Given the description of an element on the screen output the (x, y) to click on. 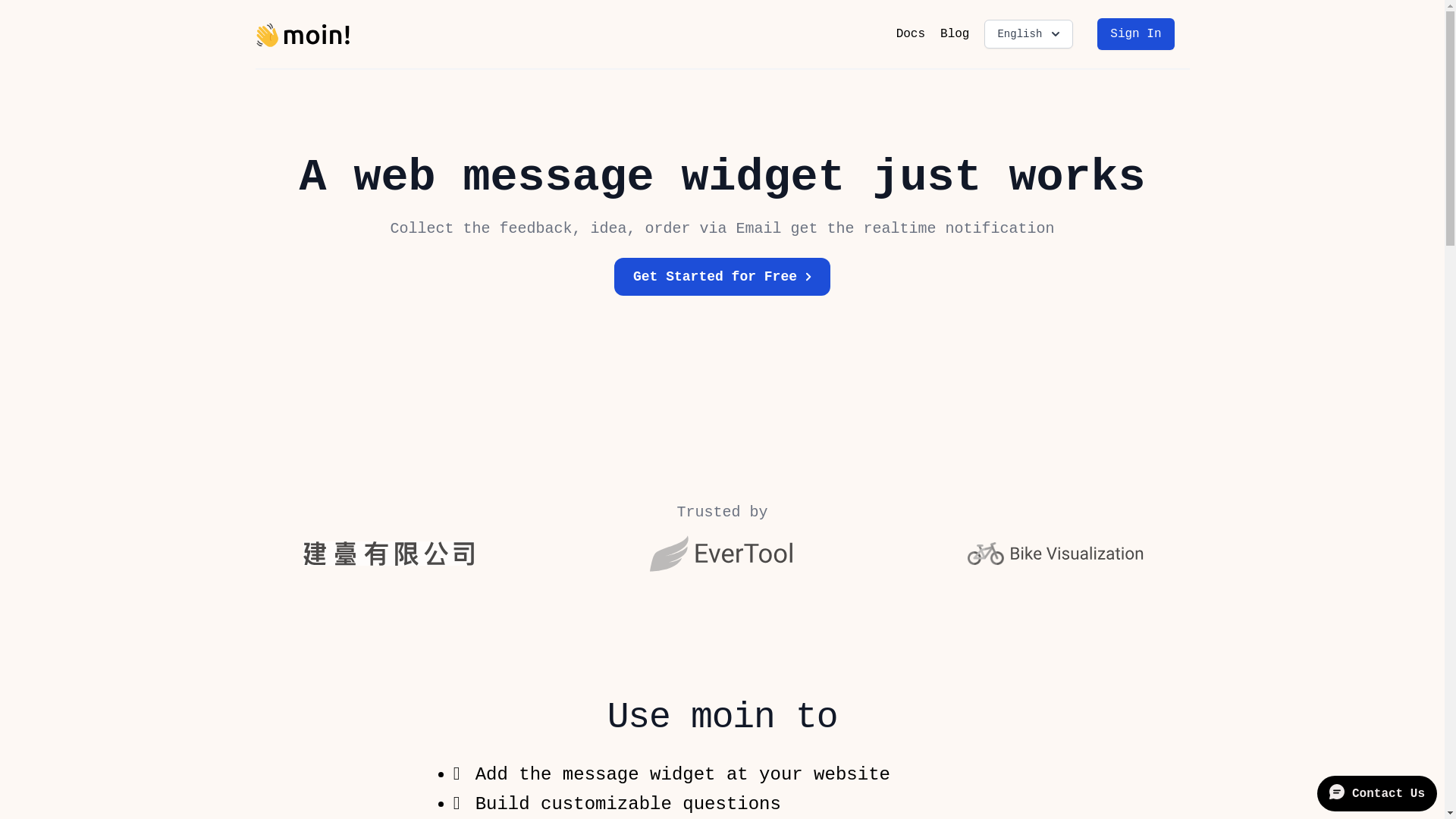
English Element type: text (1028, 33)
Sign In Element type: text (1135, 34)
Blog Element type: text (954, 34)
Docs Element type: text (910, 34)
Get Started for Free Element type: text (722, 276)
